Given the description of an element on the screen output the (x, y) to click on. 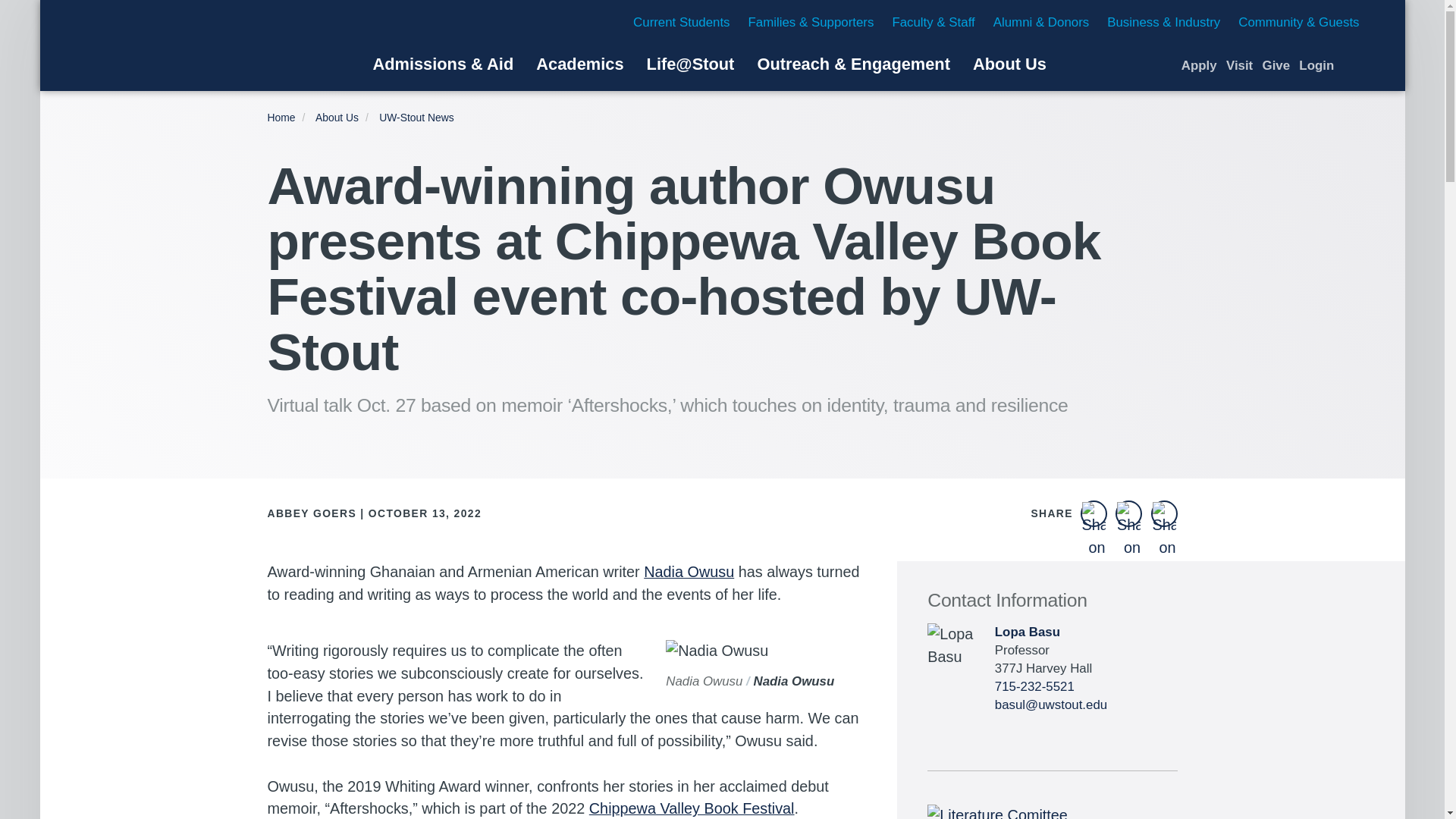
University of Wisconsin-Stout (167, 45)
Academics (579, 63)
Current Students (681, 22)
Common Logins for UW-Stout (1315, 65)
University of Wisconsin-Stout (167, 45)
About Us (1009, 63)
